Given the description of an element on the screen output the (x, y) to click on. 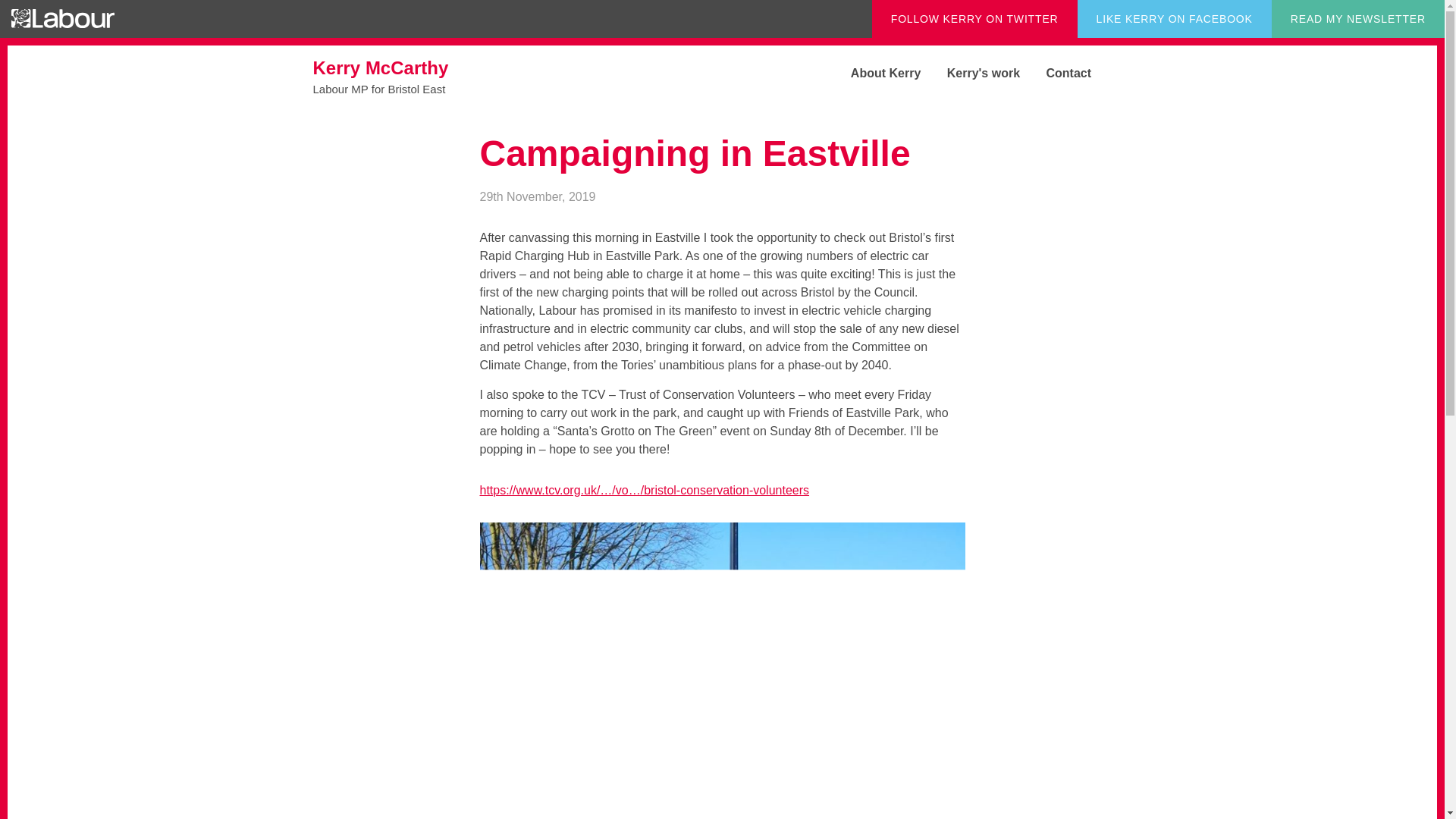
Kerry's work (426, 76)
Contact (972, 72)
About Kerry (1056, 72)
FOLLOW KERRY ON TWITTER (874, 72)
LIKE KERRY ON FACEBOOK (974, 18)
